Given the description of an element on the screen output the (x, y) to click on. 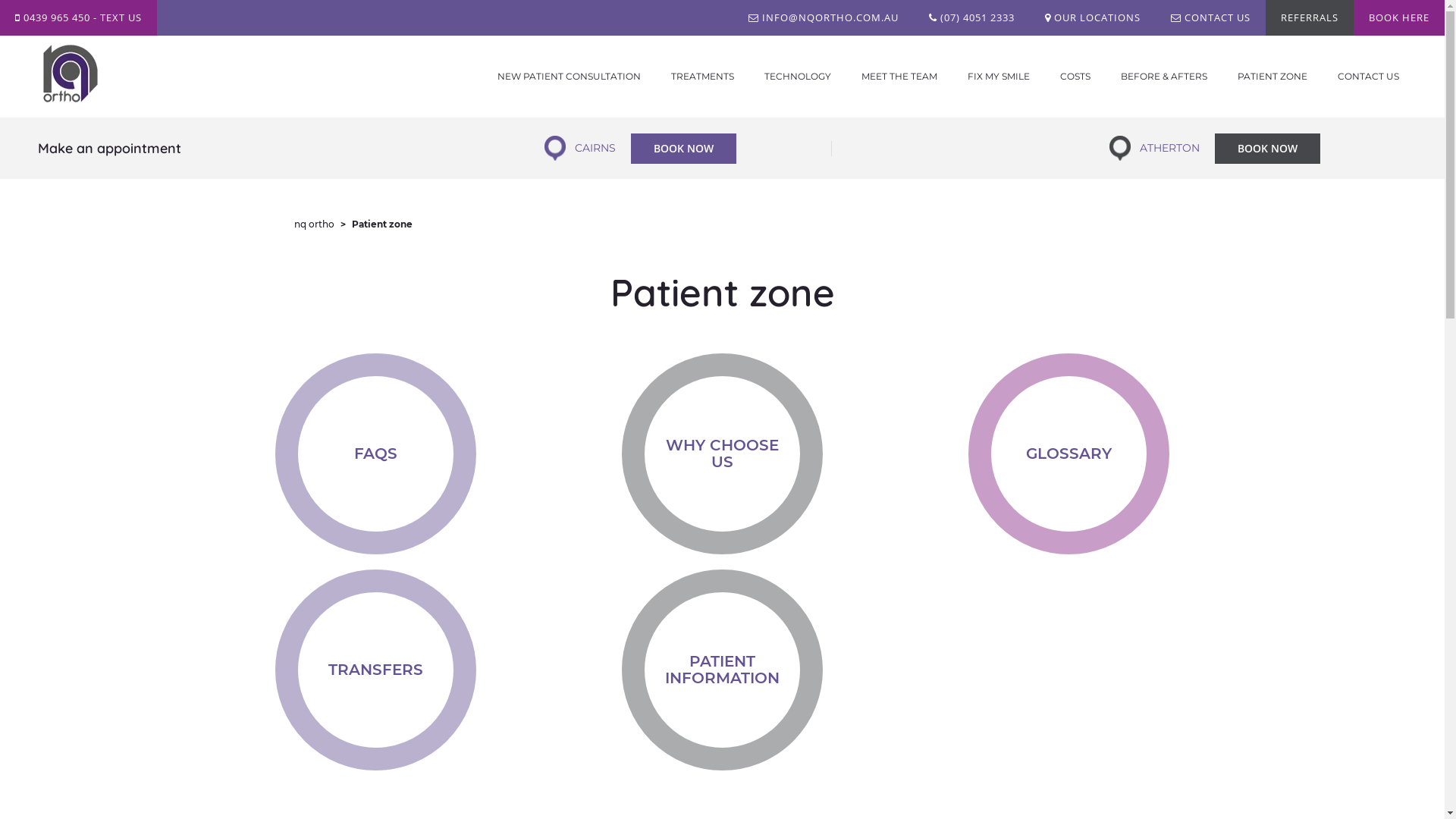
(07) 4051 2333 Element type: text (971, 17)
MEET THE TEAM Element type: text (899, 76)
GLOSSARY Element type: text (1068, 453)
PATIENT INFORMATION Element type: text (721, 669)
BOOK NOW Element type: text (683, 148)
OUR LOCATIONS Element type: text (1092, 17)
TREATMENTS Element type: text (702, 76)
BOOK HERE Element type: text (1398, 17)
CONTACT US Element type: text (1368, 76)
REFERRALS Element type: text (1309, 17)
ATHERTON Element type: text (1169, 147)
BOOK NOW Element type: text (1267, 148)
BEFORE & AFTERS Element type: text (1163, 76)
nq ortho Element type: text (314, 223)
NEW PATIENT CONSULTATION Element type: text (568, 76)
TECHNOLOGY Element type: text (797, 76)
INFO@NQORTHO.COM.AU Element type: text (823, 17)
0439 965 450 - TEXT US Element type: text (78, 17)
WHY CHOOSE US Element type: text (721, 453)
FIX MY SMILE Element type: text (998, 76)
PATIENT ZONE Element type: text (1272, 76)
TRANSFERS Element type: text (375, 669)
FAQS Element type: text (375, 453)
CAIRNS Element type: text (594, 147)
COSTS Element type: text (1074, 76)
CONTACT US Element type: text (1210, 17)
